Given the description of an element on the screen output the (x, y) to click on. 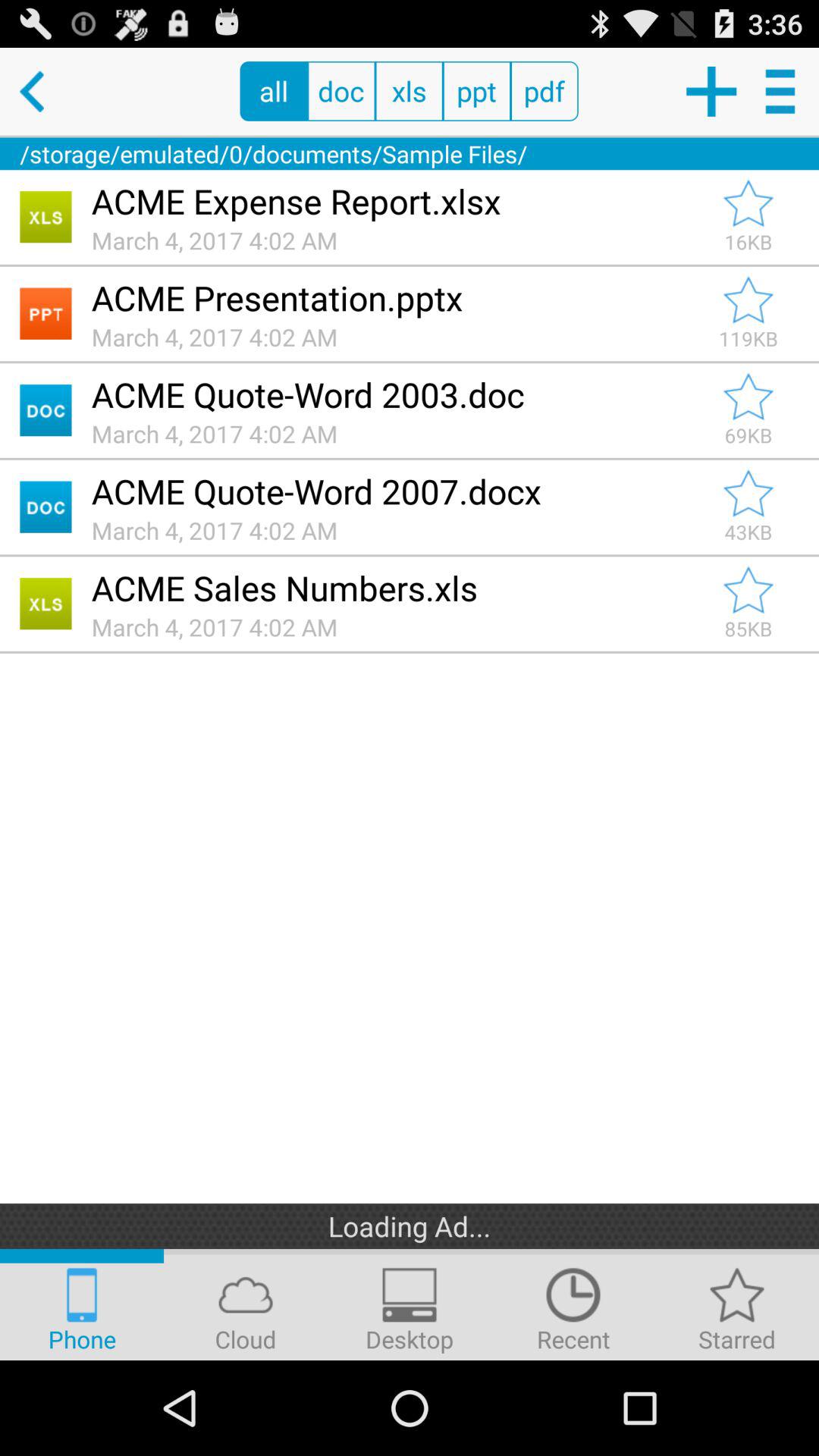
choose the icon next to the ppt item (544, 91)
